Given the description of an element on the screen output the (x, y) to click on. 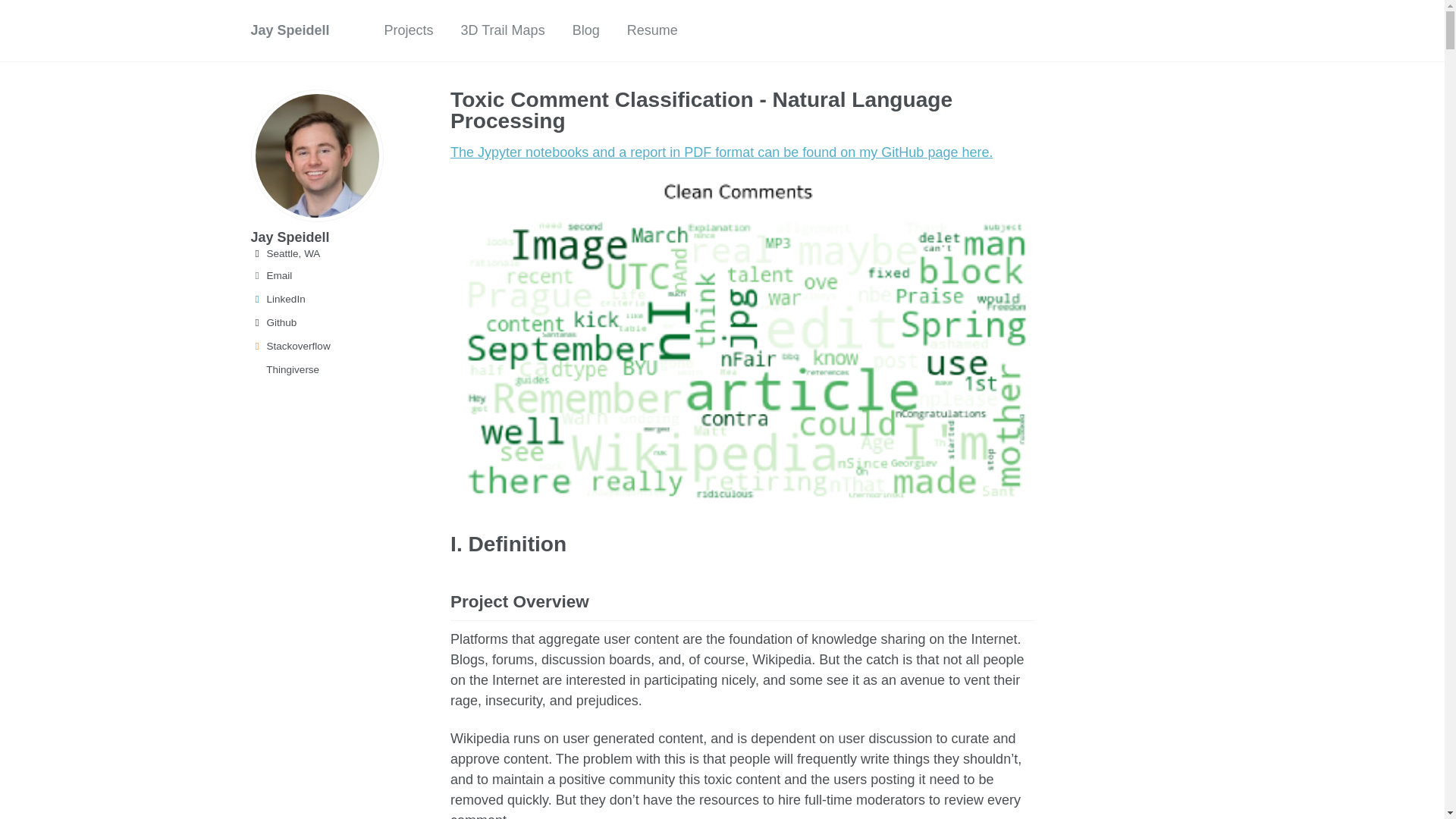
Stackoverflow (322, 346)
Thingiverse (322, 370)
3D Trail Maps (502, 30)
Projects (408, 30)
Resume (652, 30)
Email (322, 275)
Github (322, 322)
LinkedIn (322, 299)
